Given the description of an element on the screen output the (x, y) to click on. 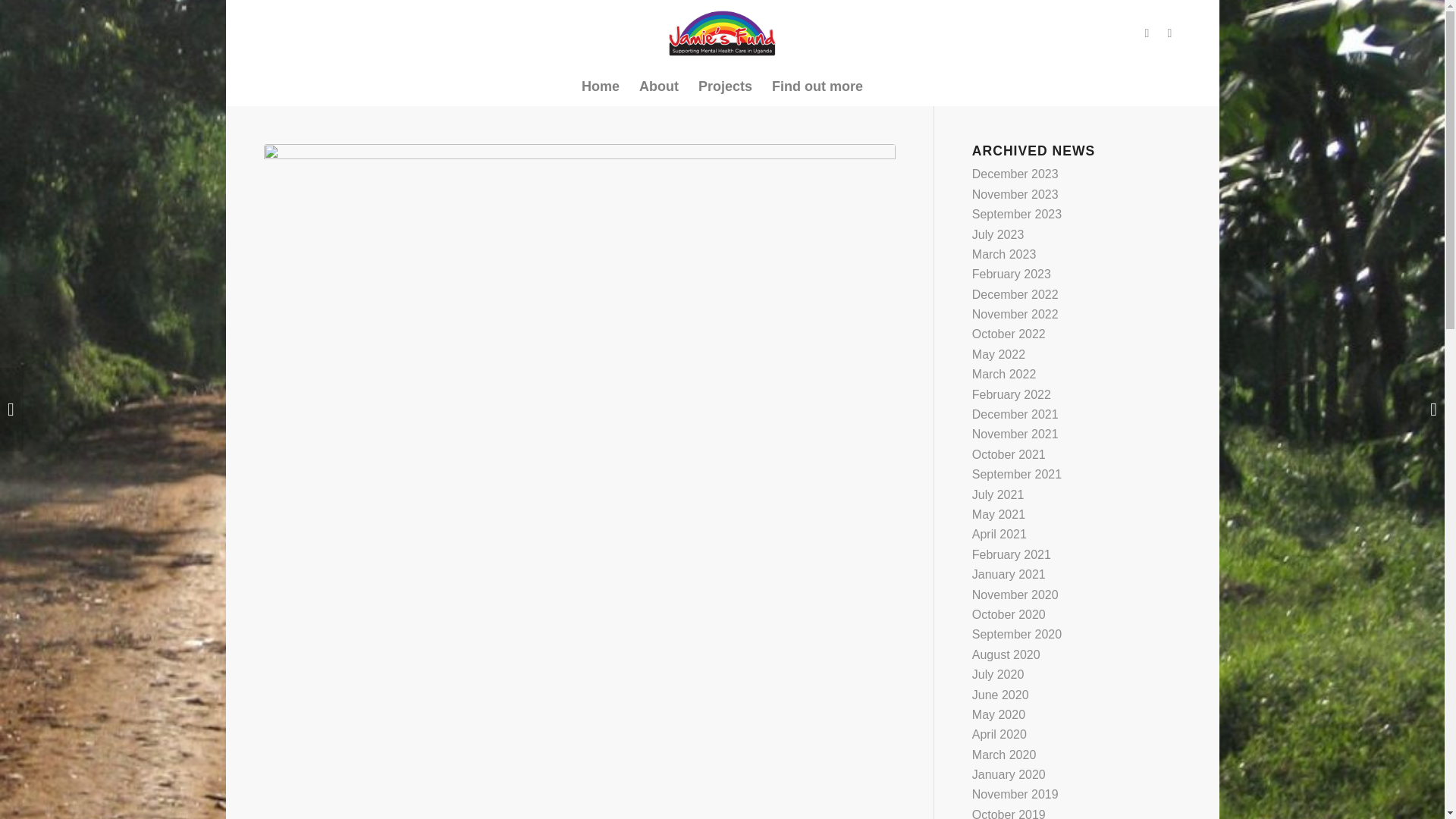
About (658, 86)
Projects (724, 86)
Home (600, 86)
Find out more (816, 86)
